Given the description of an element on the screen output the (x, y) to click on. 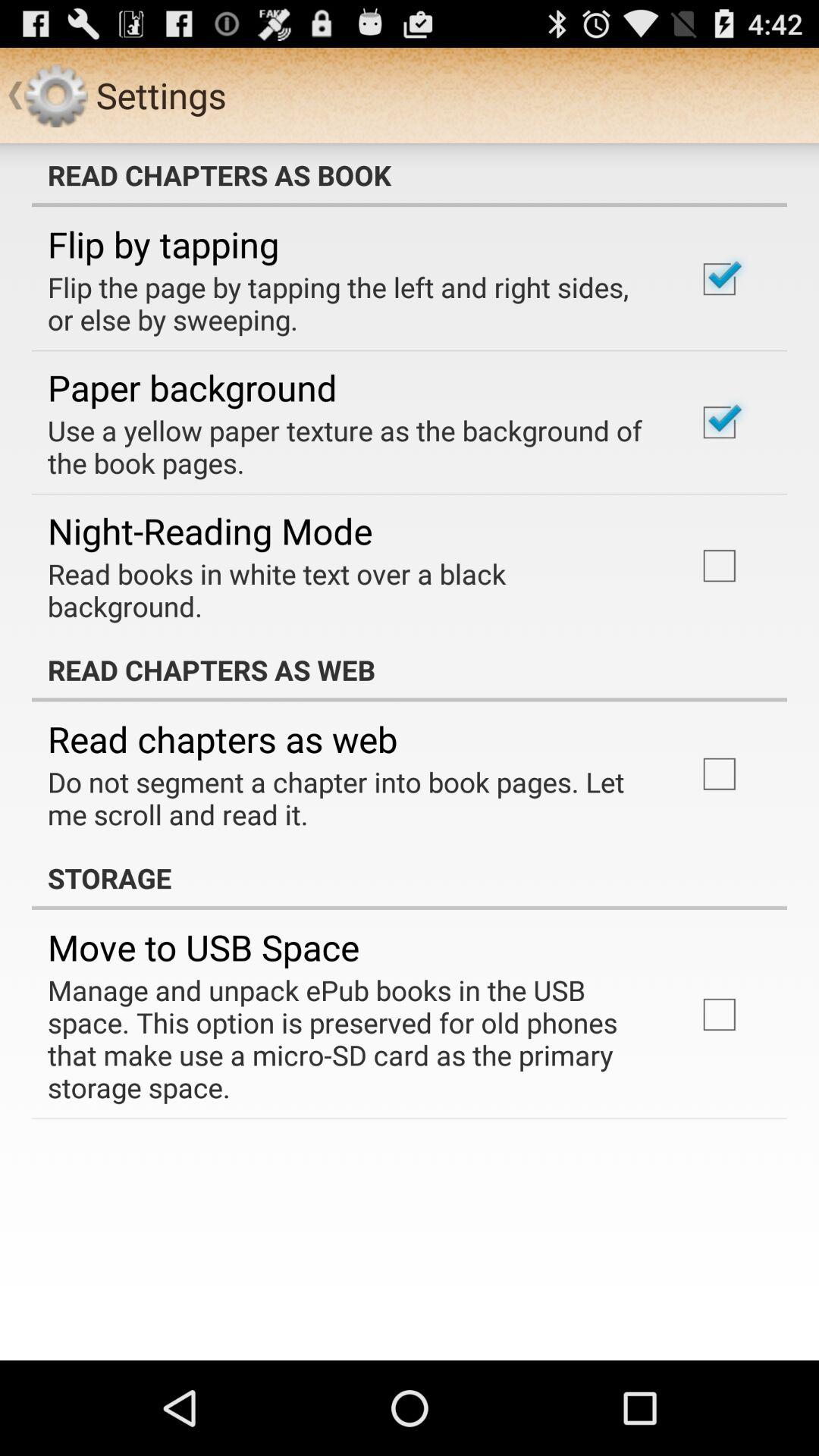
turn on app below use a yellow (209, 530)
